Given the description of an element on the screen output the (x, y) to click on. 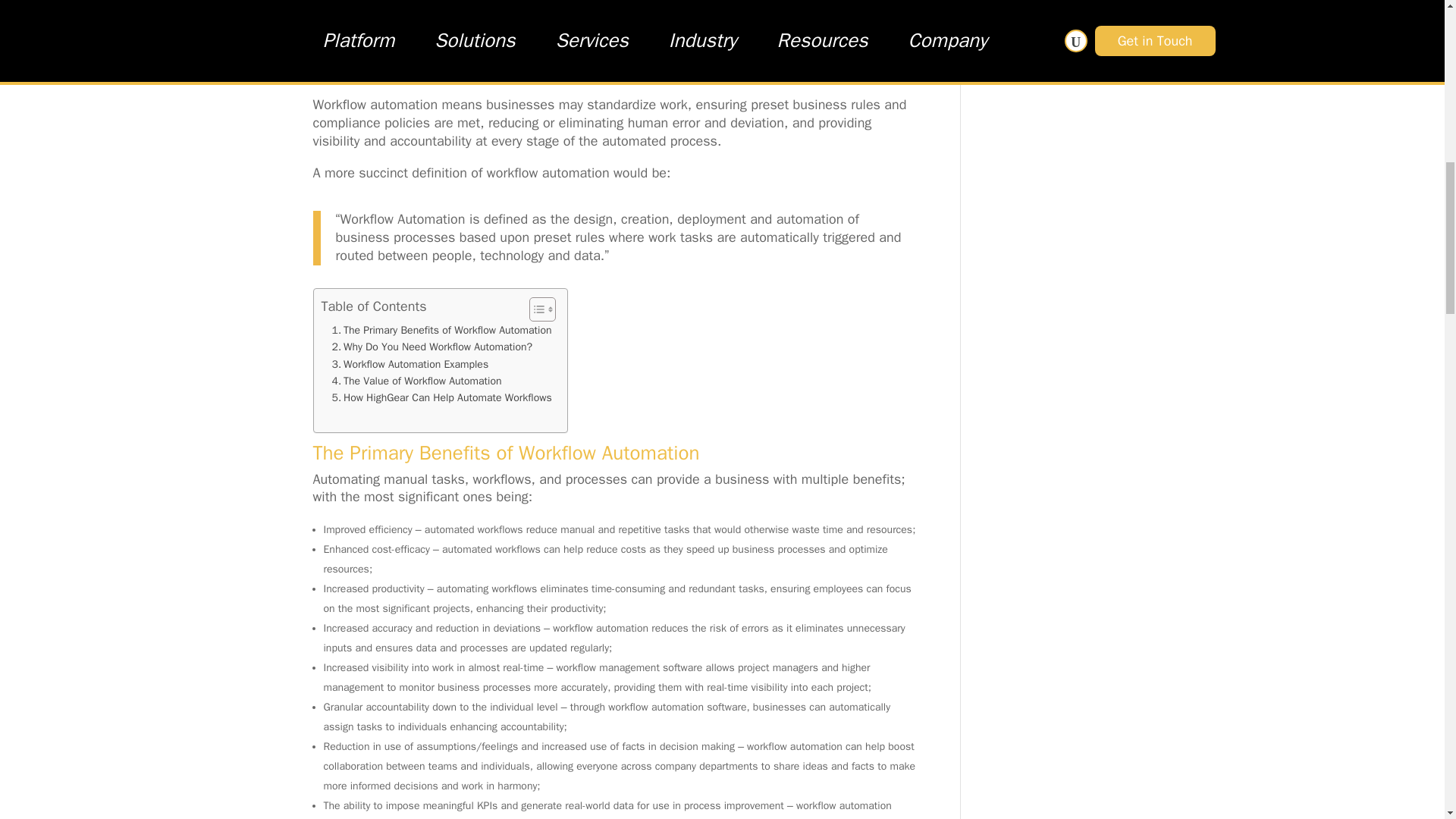
Workflow Automation Examples (410, 364)
The Primary Benefits of Workflow Automation (441, 330)
How HighGear Can Help Automate Workflows (441, 397)
The Value of Workflow Automation (416, 381)
Why Do You Need Workflow Automation? (431, 347)
